Given the description of an element on the screen output the (x, y) to click on. 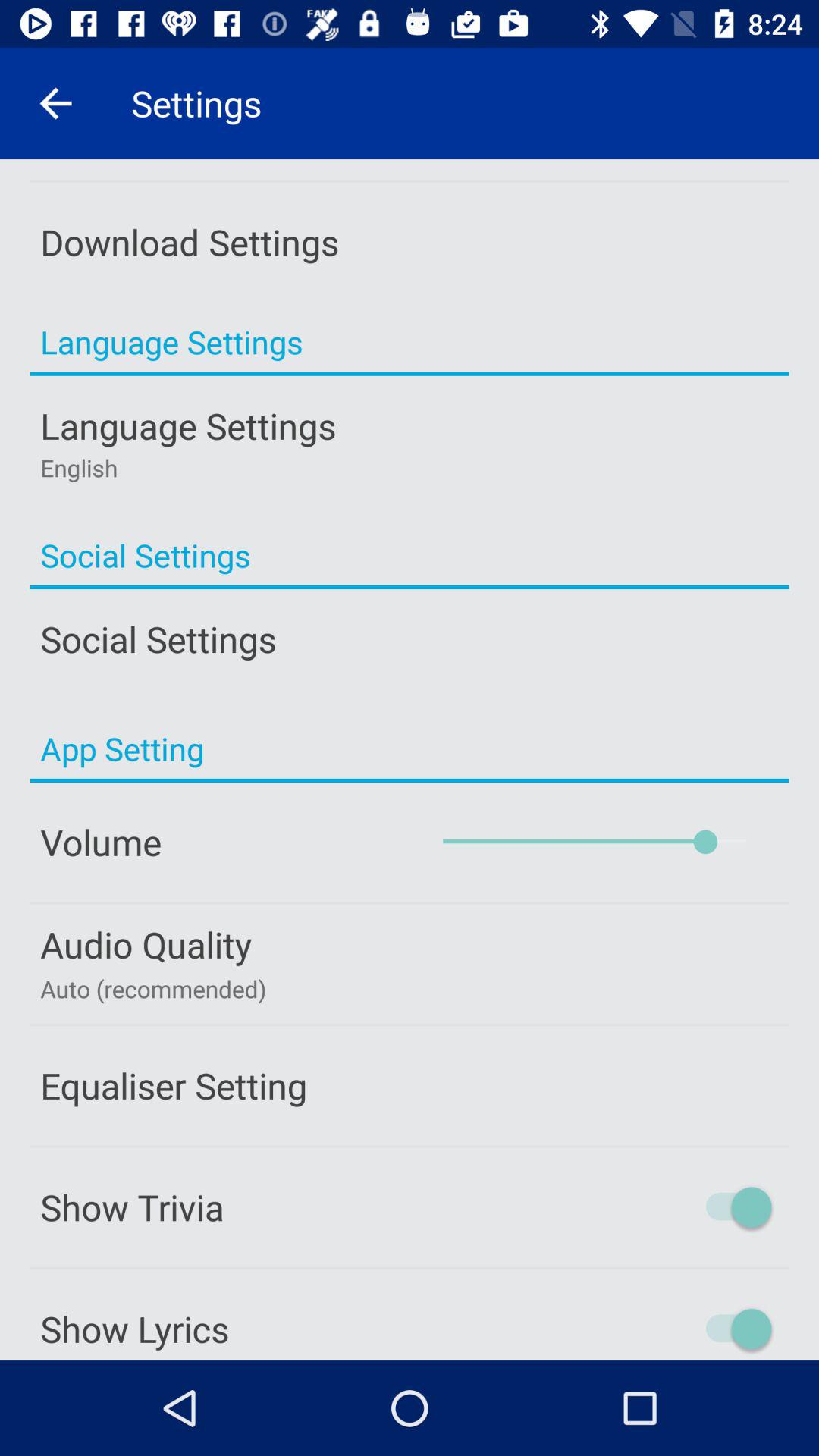
turn on the item to the right of show lyrics icon (674, 1328)
